Given the description of an element on the screen output the (x, y) to click on. 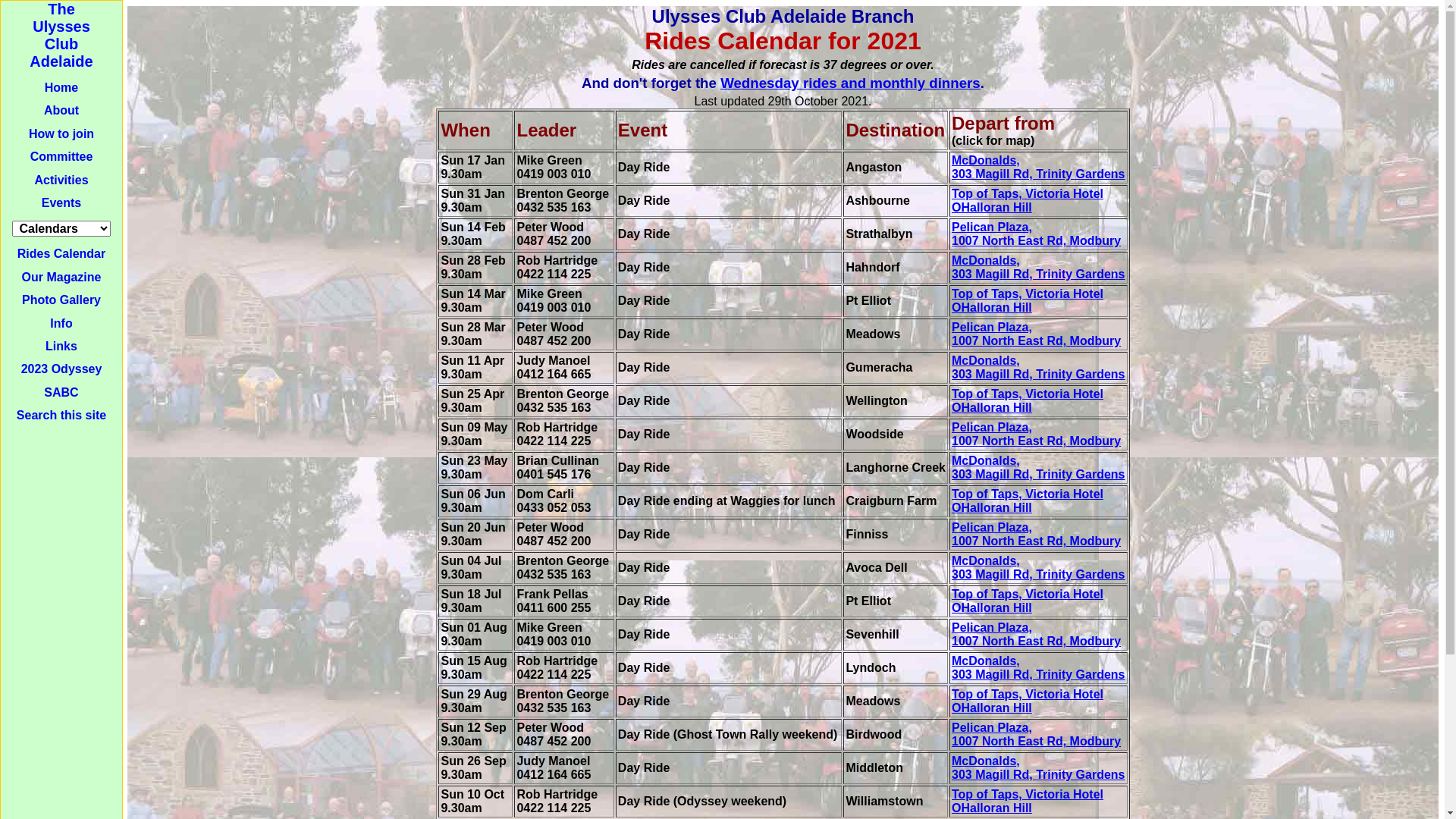
SABC Element type: text (60, 391)
McDonalds,
303 Magill Rd, Trinity Gardens Element type: text (1038, 467)
Rides Calendar Element type: text (61, 253)
Events Element type: text (61, 202)
About Element type: text (60, 109)
Pelican Plaza,
1007 North East Rd, Modbury Element type: text (1035, 233)
Info Element type: text (61, 322)
Top of Taps, Victoria Hotel
OHalloran Hill Element type: text (1027, 400)
Top of Taps, Victoria Hotel
OHalloran Hill Element type: text (1027, 500)
Wednesday rides and monthly dinners Element type: text (850, 83)
Search this site Element type: text (61, 414)
McDonalds,
303 Magill Rd, Trinity Gardens Element type: text (1038, 267)
Home Element type: text (61, 87)
Photo Gallery Element type: text (60, 299)
McDonalds,
303 Magill Rd, Trinity Gardens Element type: text (1038, 767)
Committee Element type: text (61, 156)
Pelican Plaza,
1007 North East Rd, Modbury Element type: text (1035, 634)
Top of Taps, Victoria Hotel
OHalloran Hill Element type: text (1027, 700)
Activities Element type: text (60, 179)
Pelican Plaza,
1007 North East Rd, Modbury Element type: text (1035, 734)
Links Element type: text (61, 345)
2023 Odyssey Element type: text (61, 368)
McDonalds,
303 Magill Rd, Trinity Gardens Element type: text (1038, 567)
Top of Taps, Victoria Hotel
OHalloran Hill Element type: text (1027, 300)
Top of Taps, Victoria Hotel
OHalloran Hill Element type: text (1027, 600)
Top of Taps, Victoria Hotel
OHalloran Hill Element type: text (1027, 800)
Pelican Plaza,
1007 North East Rd, Modbury Element type: text (1035, 533)
Our Magazine Element type: text (61, 276)
Pelican Plaza,
1007 North East Rd, Modbury Element type: text (1035, 333)
McDonalds,
303 Magill Rd, Trinity Gardens Element type: text (1038, 166)
McDonalds,
303 Magill Rd, Trinity Gardens Element type: text (1038, 667)
McDonalds,
303 Magill Rd, Trinity Gardens Element type: text (1038, 367)
Top of Taps, Victoria Hotel
OHalloran Hill Element type: text (1027, 200)
How to join Element type: text (61, 133)
Pelican Plaza,
1007 North East Rd, Modbury Element type: text (1035, 433)
